Given the description of an element on the screen output the (x, y) to click on. 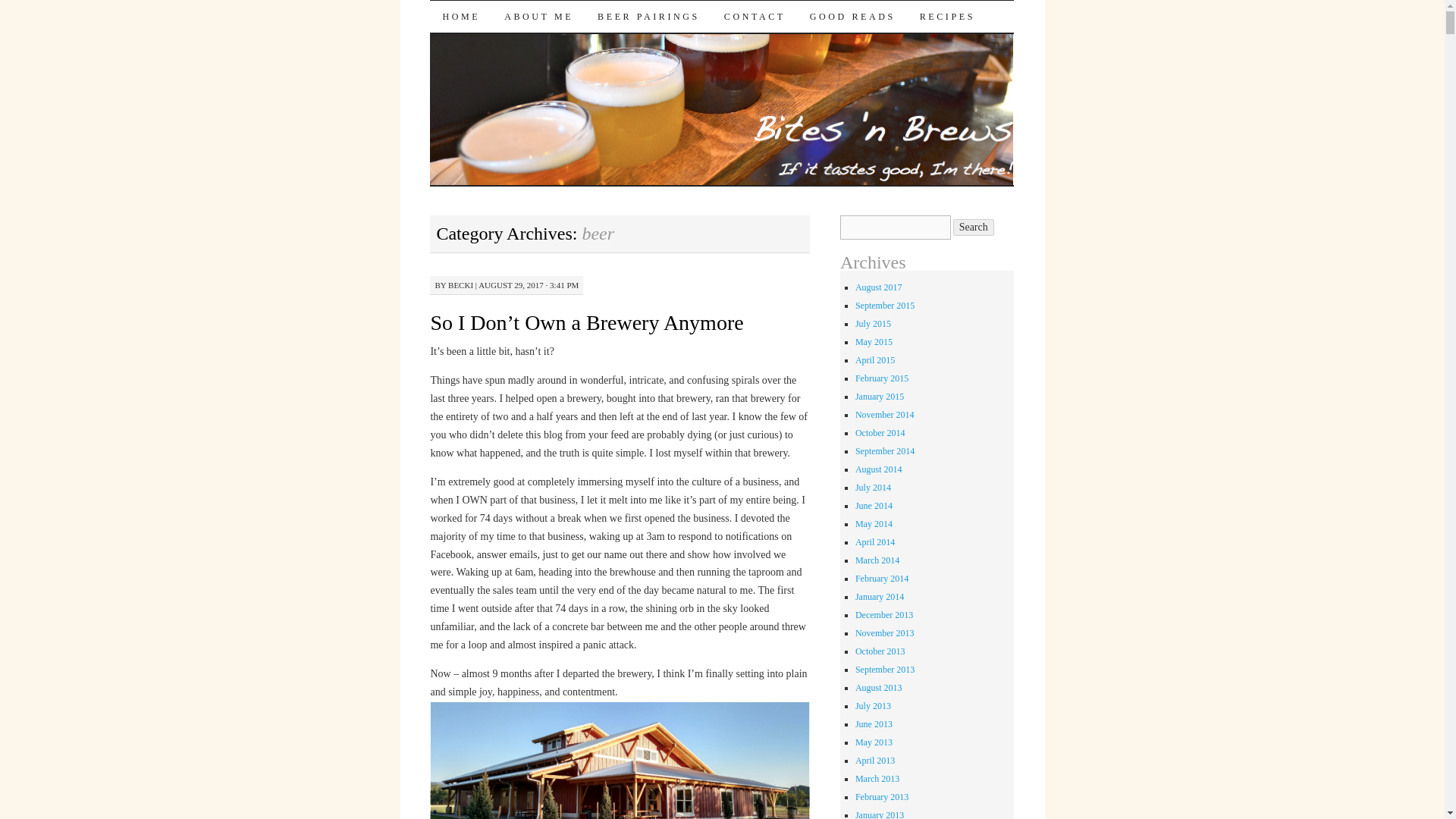
HOME (460, 16)
ABOUT ME (538, 16)
RECIPES (947, 16)
BECKI (460, 284)
GOOD READS (852, 16)
Search (973, 227)
BEER PAIRINGS (648, 16)
Bites 'n Brews (521, 26)
Bites 'n Brews (521, 26)
View all posts by Becki (460, 284)
CONTACT (754, 16)
